Given the description of an element on the screen output the (x, y) to click on. 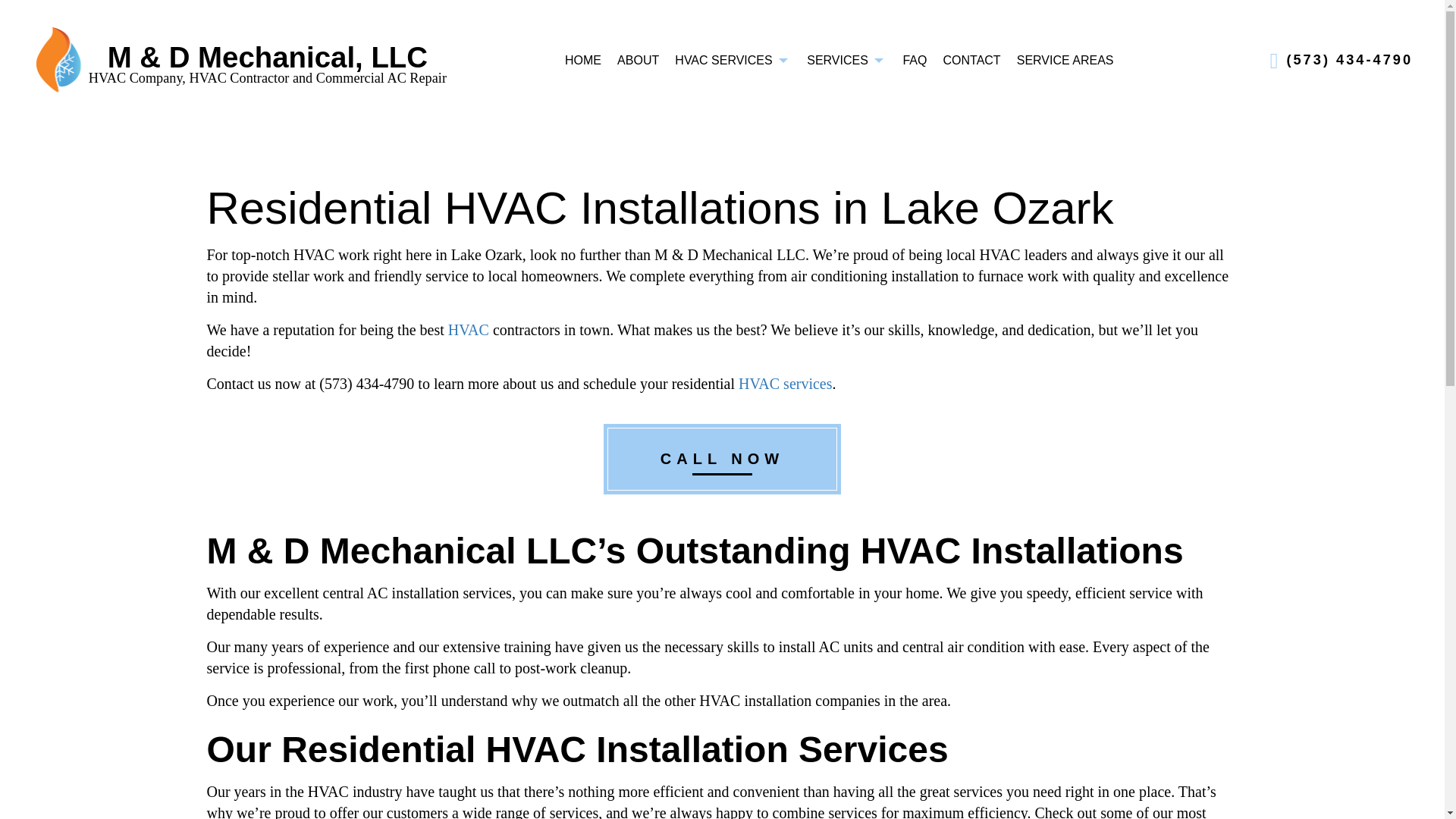
ABOUT (638, 59)
HOME (582, 59)
HVAC SERVICES (732, 59)
